Given the description of an element on the screen output the (x, y) to click on. 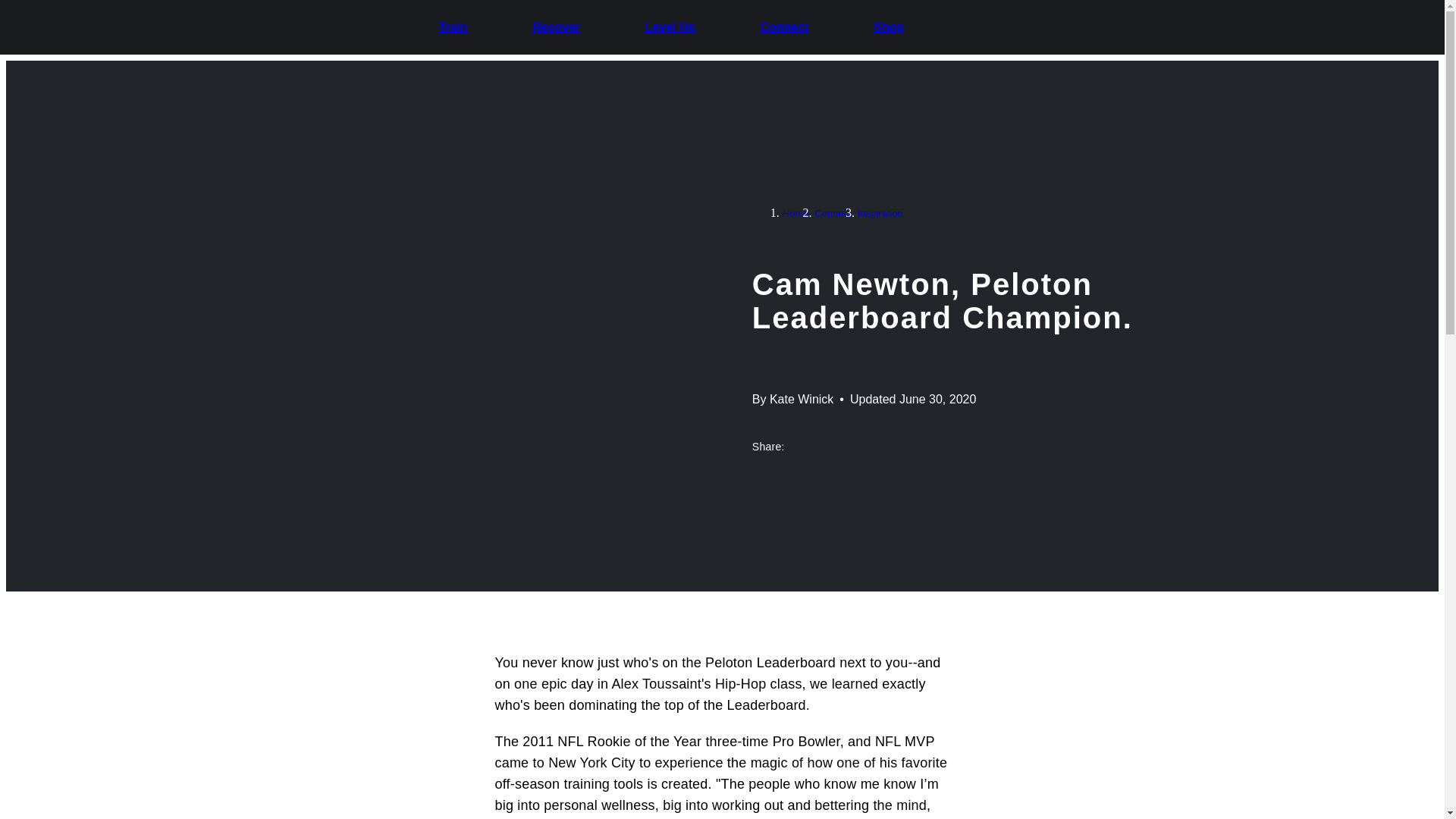
Level Up (670, 27)
Shop (888, 27)
Recover (555, 27)
Train (452, 27)
Connect (784, 27)
Inspiration (879, 212)
Home (796, 212)
Connect (831, 212)
